Given the description of an element on the screen output the (x, y) to click on. 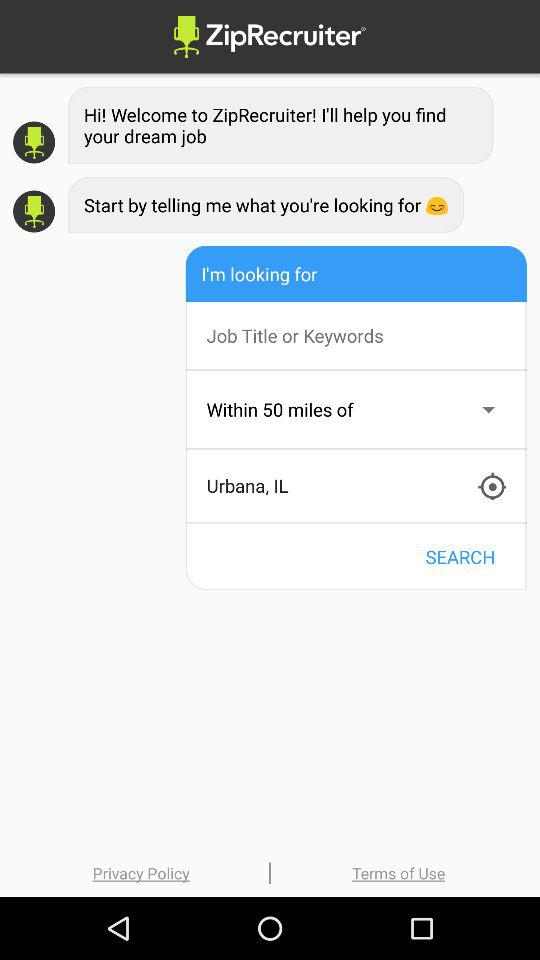
keywords box (366, 335)
